Given the description of an element on the screen output the (x, y) to click on. 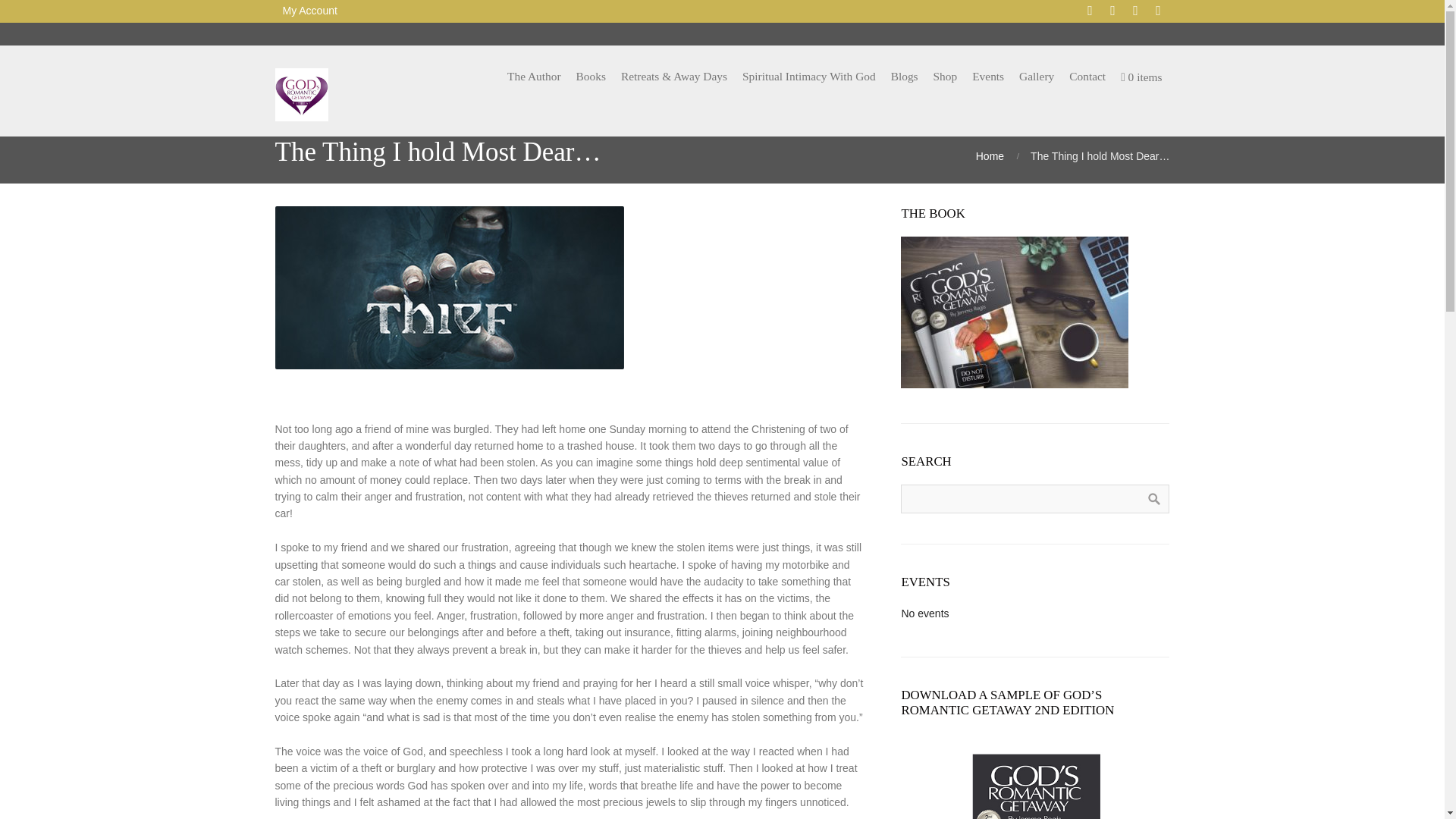
Books (590, 76)
Spiritual Intimacy With God (809, 76)
Search (1153, 498)
Blogs (904, 76)
Gallery (1036, 76)
0 items (1141, 77)
YouTube (1158, 11)
My Account (309, 11)
Shop (945, 76)
Contact (1087, 76)
The Author (534, 76)
Events (987, 76)
Twitter (1112, 11)
Home (989, 155)
LinkedIn (1135, 11)
